Given the description of an element on the screen output the (x, y) to click on. 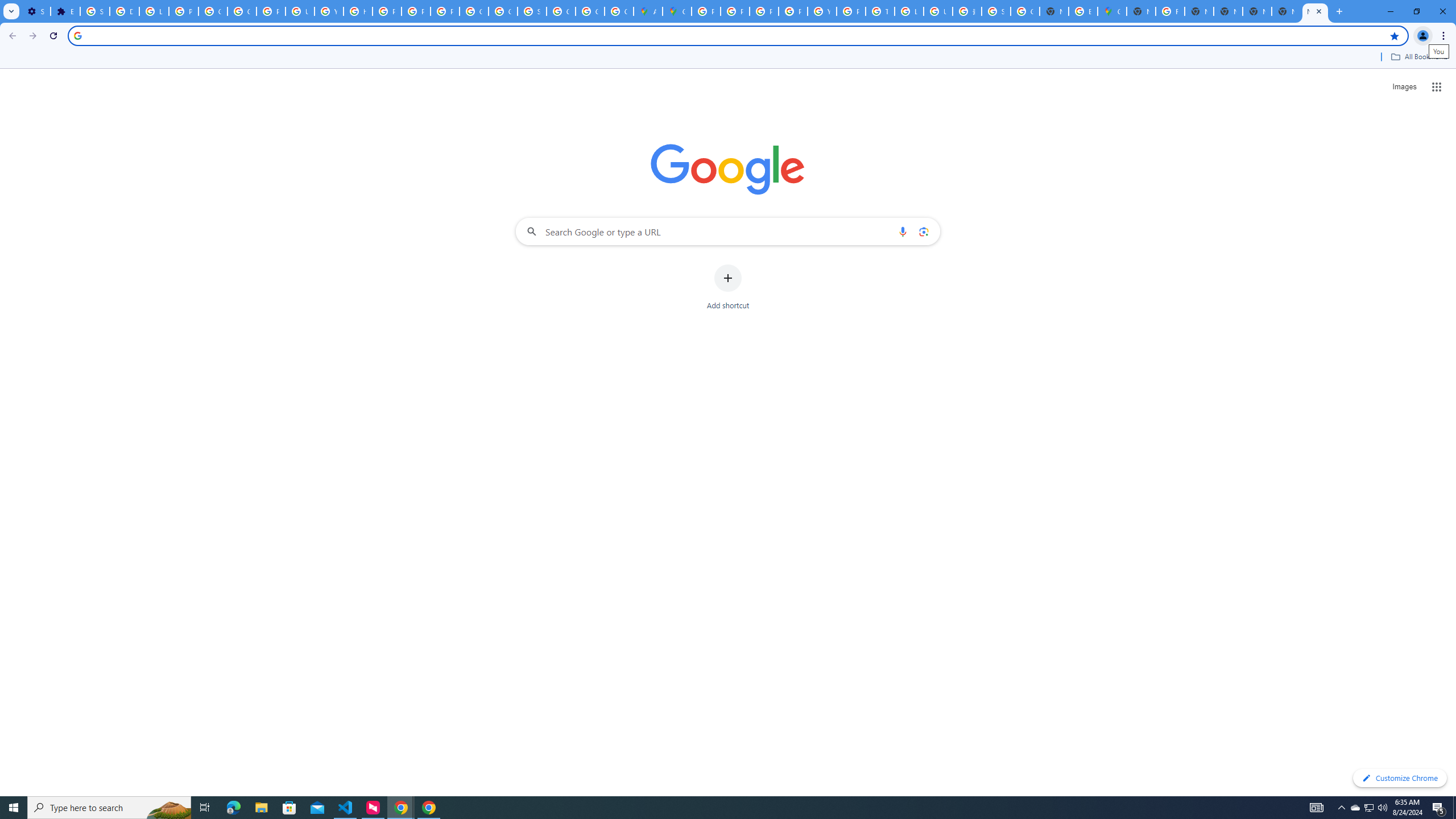
Sign in - Google Accounts (531, 11)
Learn how to find your photos - Google Photos Help (153, 11)
Search by image (922, 230)
Google Account Help (242, 11)
All Bookmarks (1418, 56)
